Given the description of an element on the screen output the (x, y) to click on. 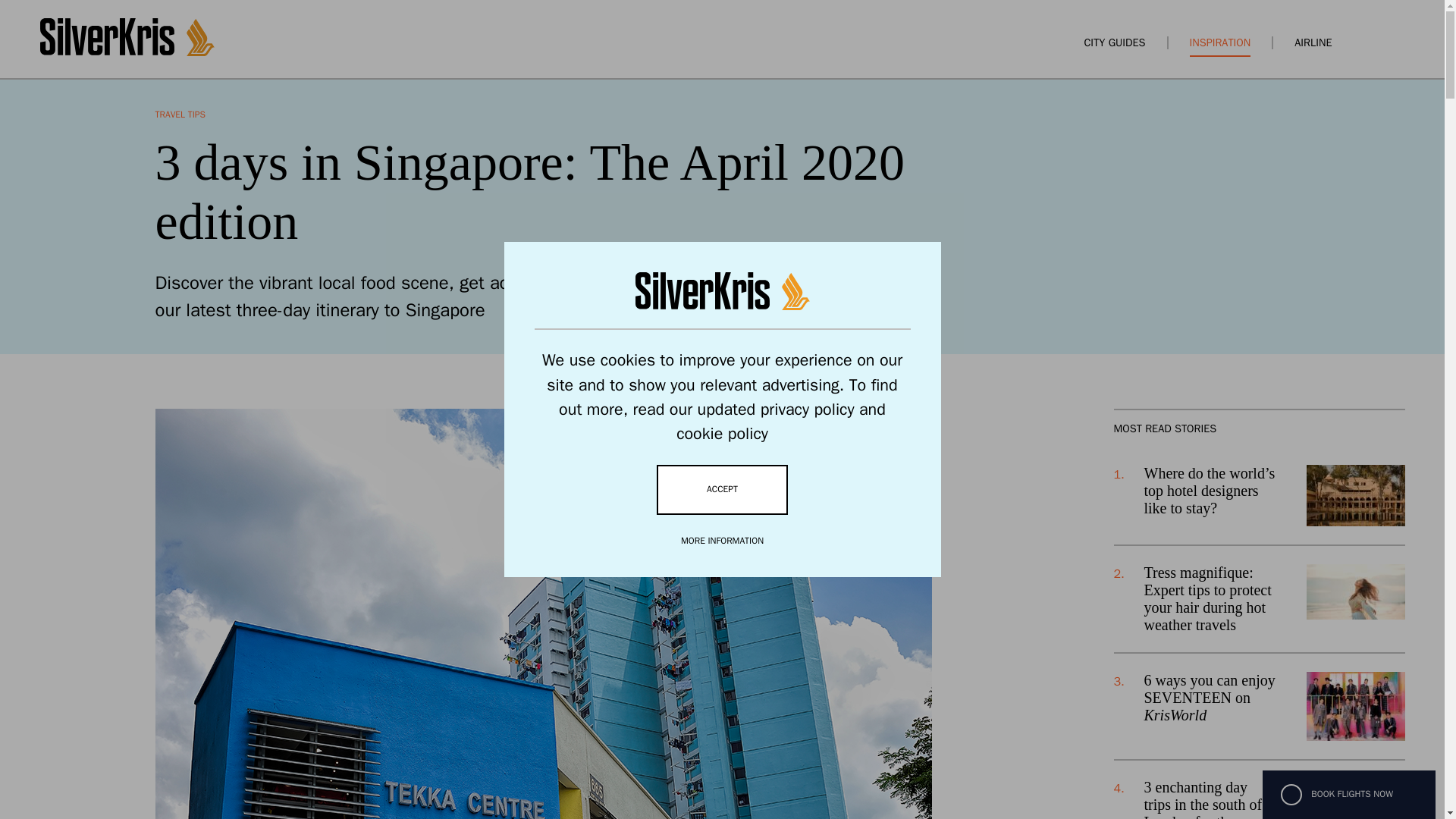
SilverKris (126, 51)
Pinterest (246, 513)
AIRLINE (1313, 42)
INSPIRATION (1219, 42)
Open Menu (1397, 43)
Open Search (1369, 43)
Facebook (165, 513)
TRAVEL TIPS (179, 114)
Twitter (192, 513)
CITY GUIDES (1113, 42)
WhatsApp (219, 513)
